Given the description of an element on the screen output the (x, y) to click on. 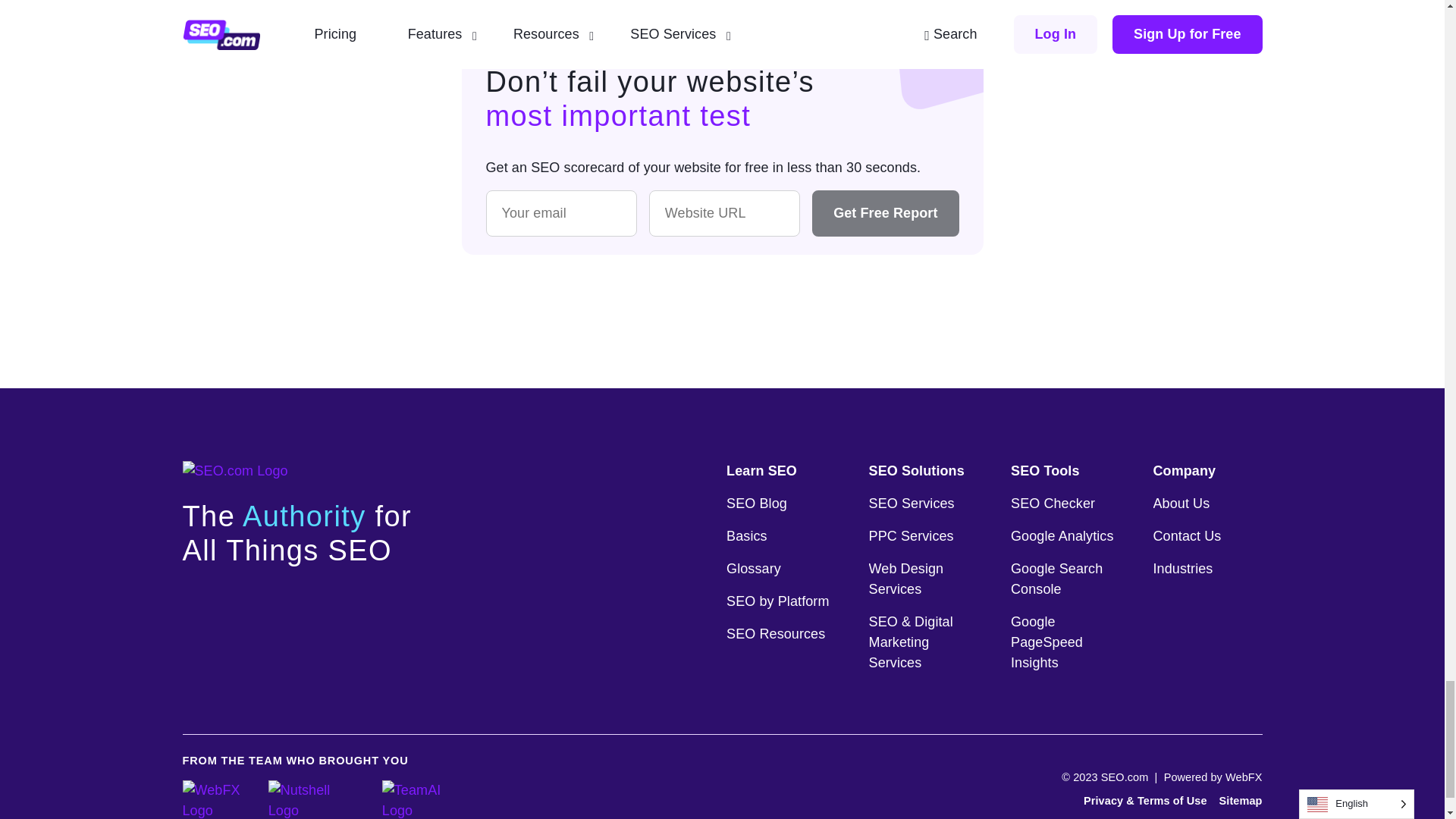
Audit your SEO in 60 seconds (1064, 503)
Contact our team (1190, 536)
Browse our latest posts (777, 503)
Learn common SEO terms (777, 568)
Browse markets we serve (1190, 568)
Learn how to do SEO by platform (777, 601)
Get free SEO resources (777, 634)
Learn how to use PageSpeed Insights (1064, 642)
View plans and pricing (923, 578)
Learn how to use Google Search Console (1064, 578)
